Given the description of an element on the screen output the (x, y) to click on. 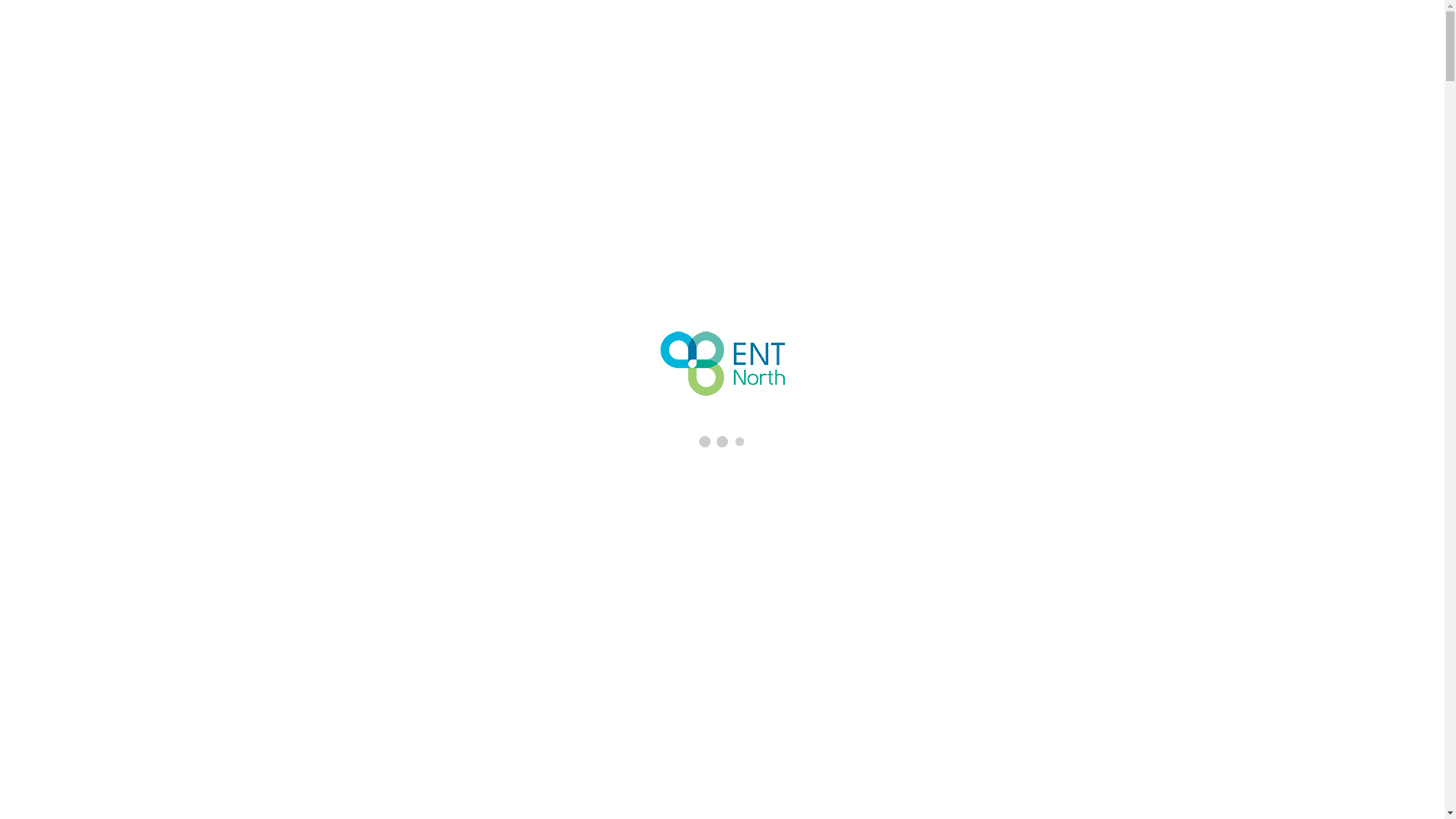
reception@entnorth.com.au Element type: text (311, 7)
BOOK AN APPOINTMENT: Element type: text (72, 7)
1300 357 338 Element type: text (193, 7)
